Given the description of an element on the screen output the (x, y) to click on. 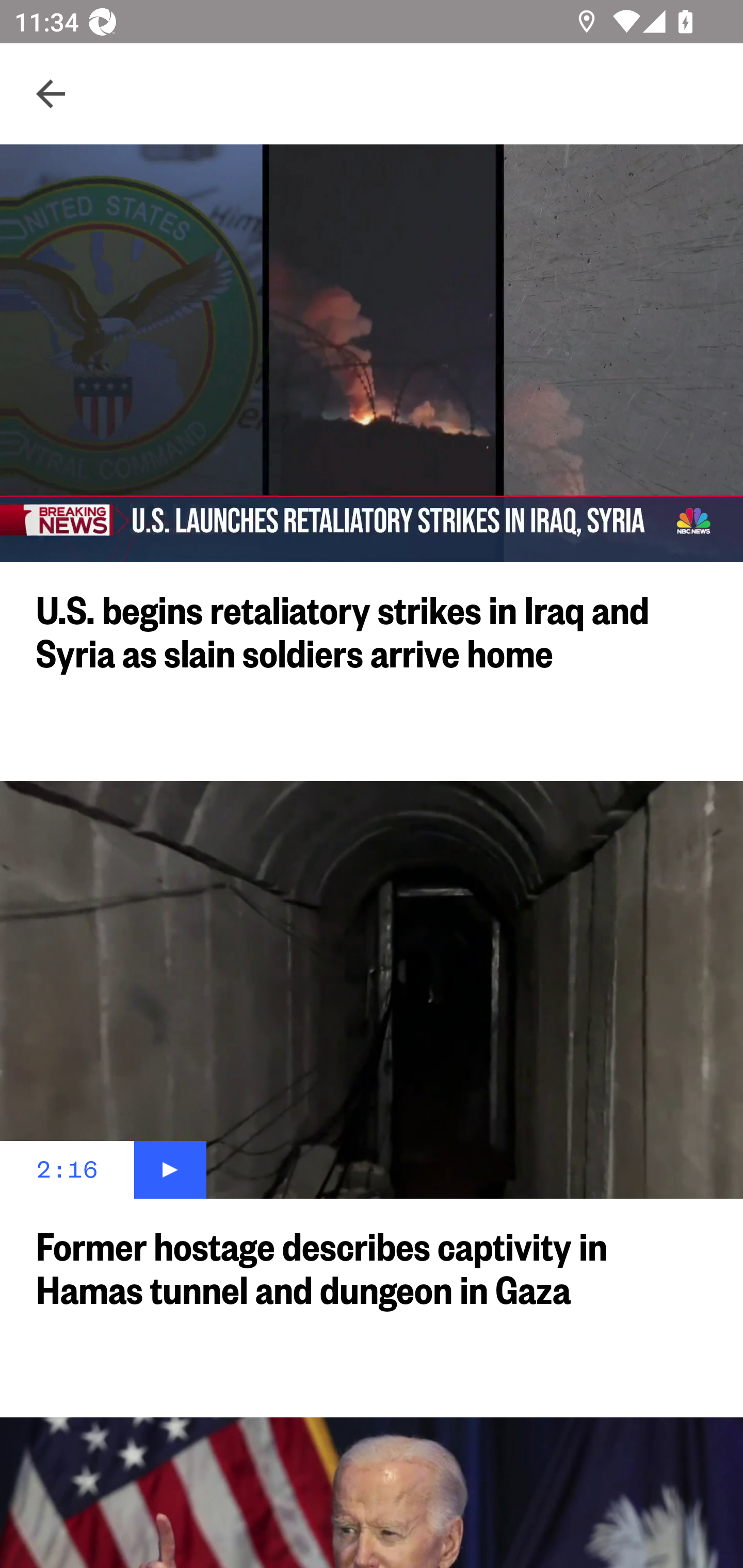
Navigate up (50, 93)
